Given the description of an element on the screen output the (x, y) to click on. 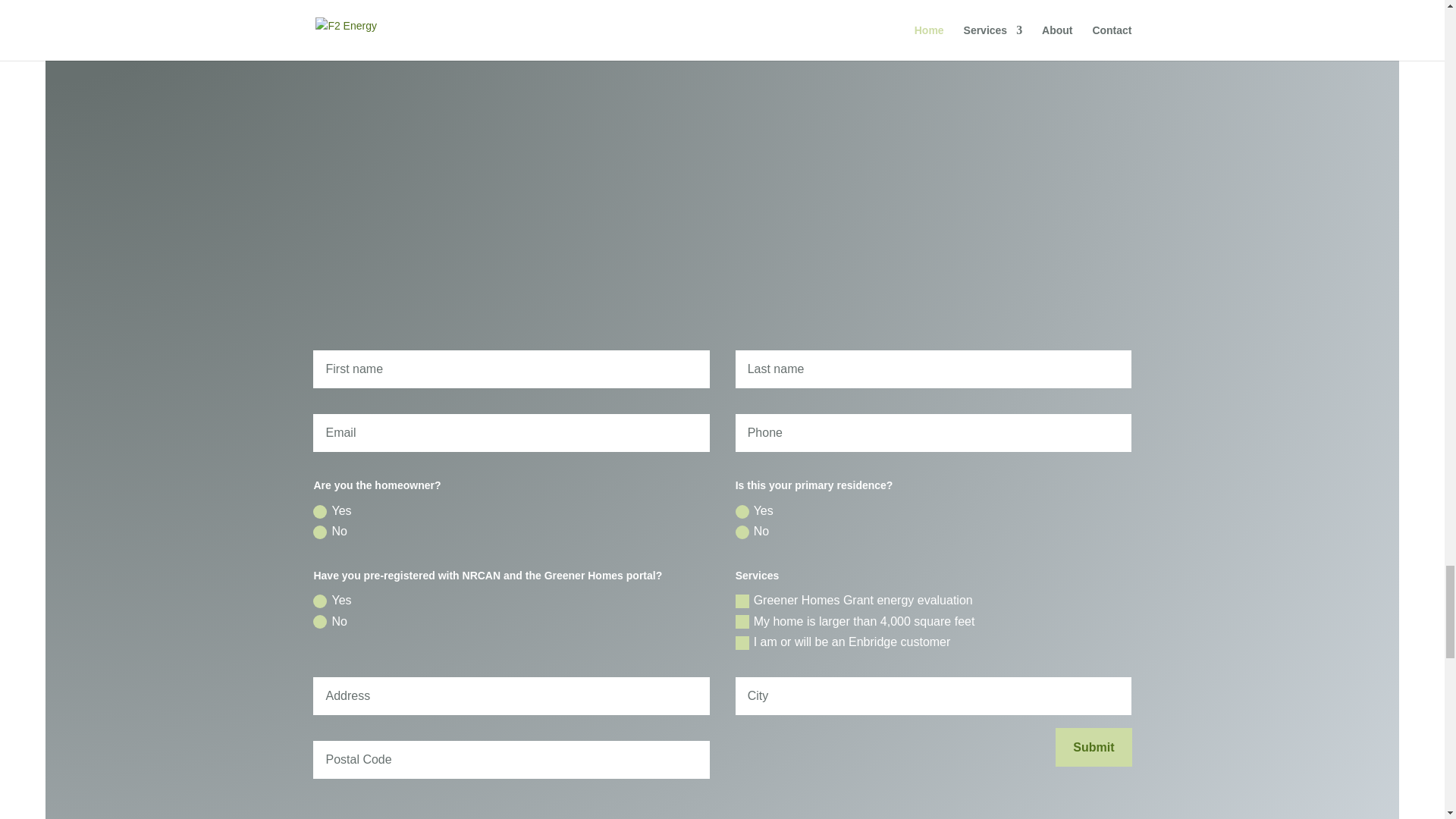
Submit (1093, 747)
